Given the description of an element on the screen output the (x, y) to click on. 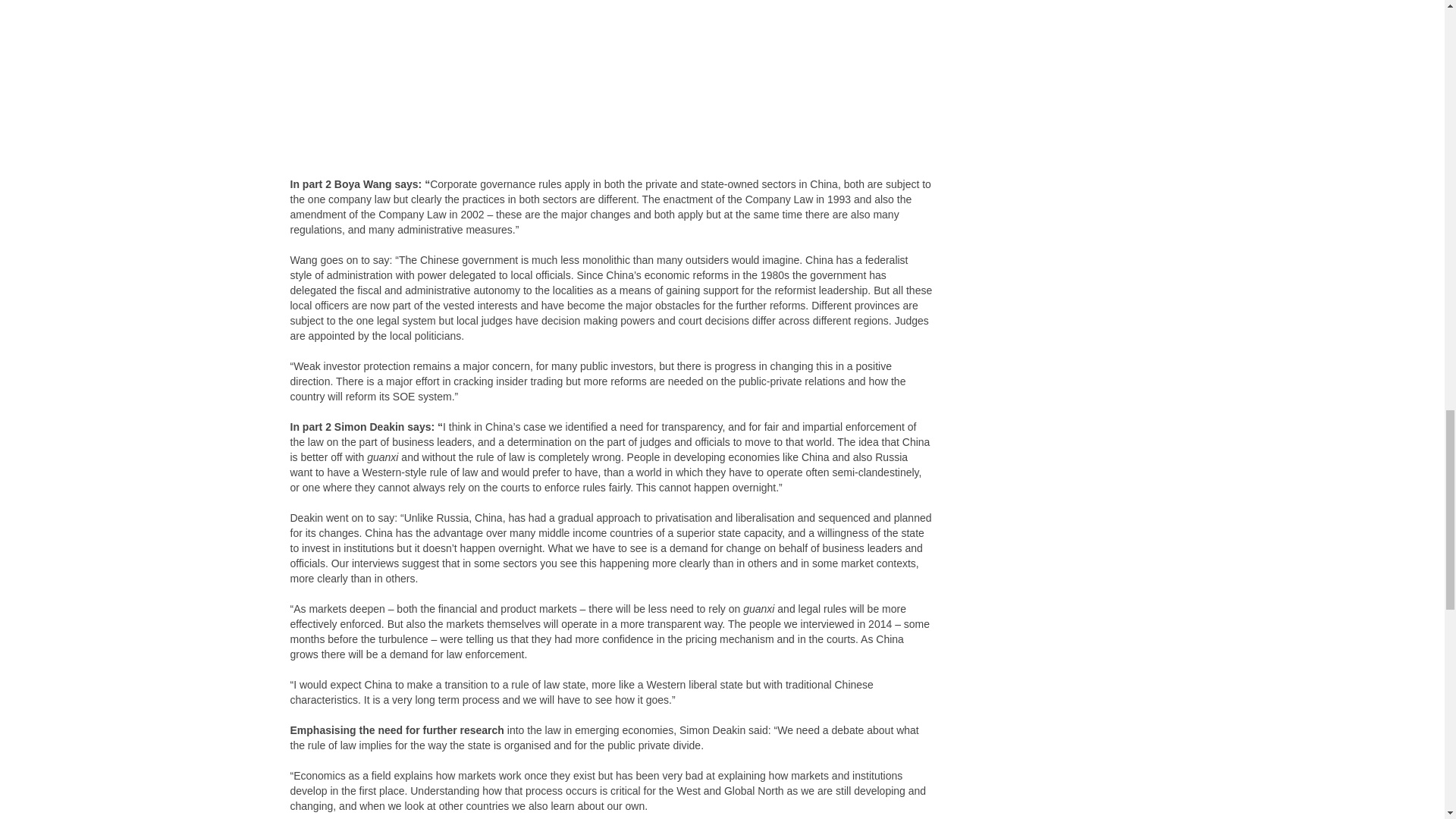
The new China and its corporate governance by CambridgeJBS (611, 86)
